Given the description of an element on the screen output the (x, y) to click on. 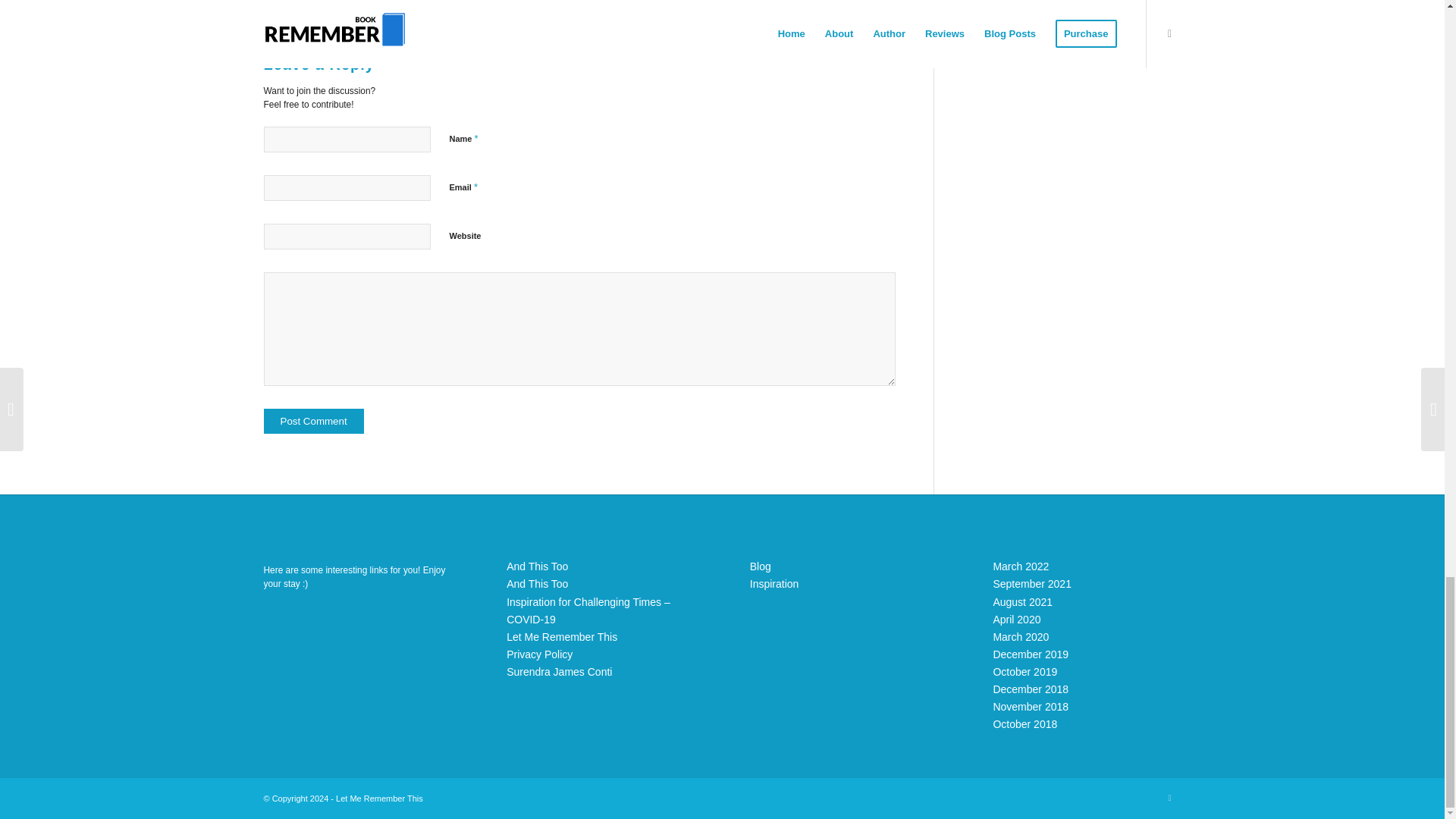
Post Comment (313, 421)
Post Comment (313, 421)
Facebook (1169, 797)
